Given the description of an element on the screen output the (x, y) to click on. 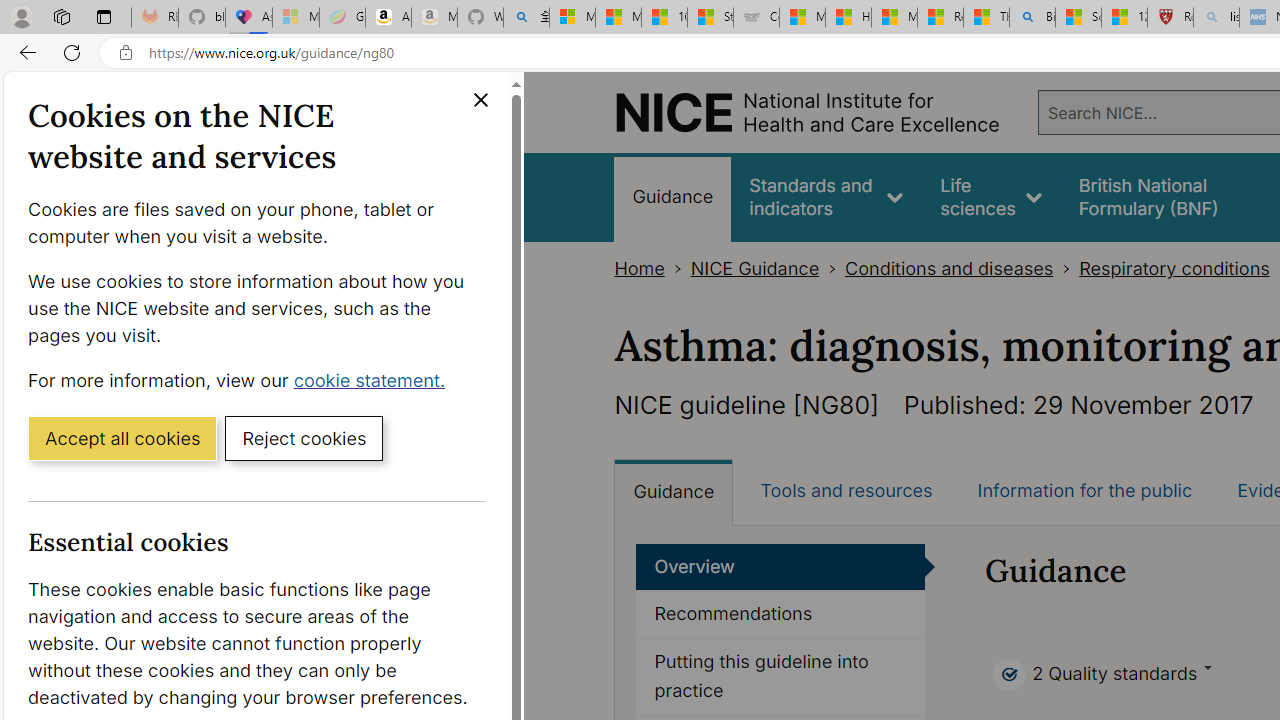
Information for the public (1084, 490)
Putting this guideline into practice (781, 676)
Reject cookies (304, 437)
Recommendations (781, 615)
NICE Guidance (754, 268)
Tools and resources (846, 490)
Conditions and diseases> (962, 268)
